Given the description of an element on the screen output the (x, y) to click on. 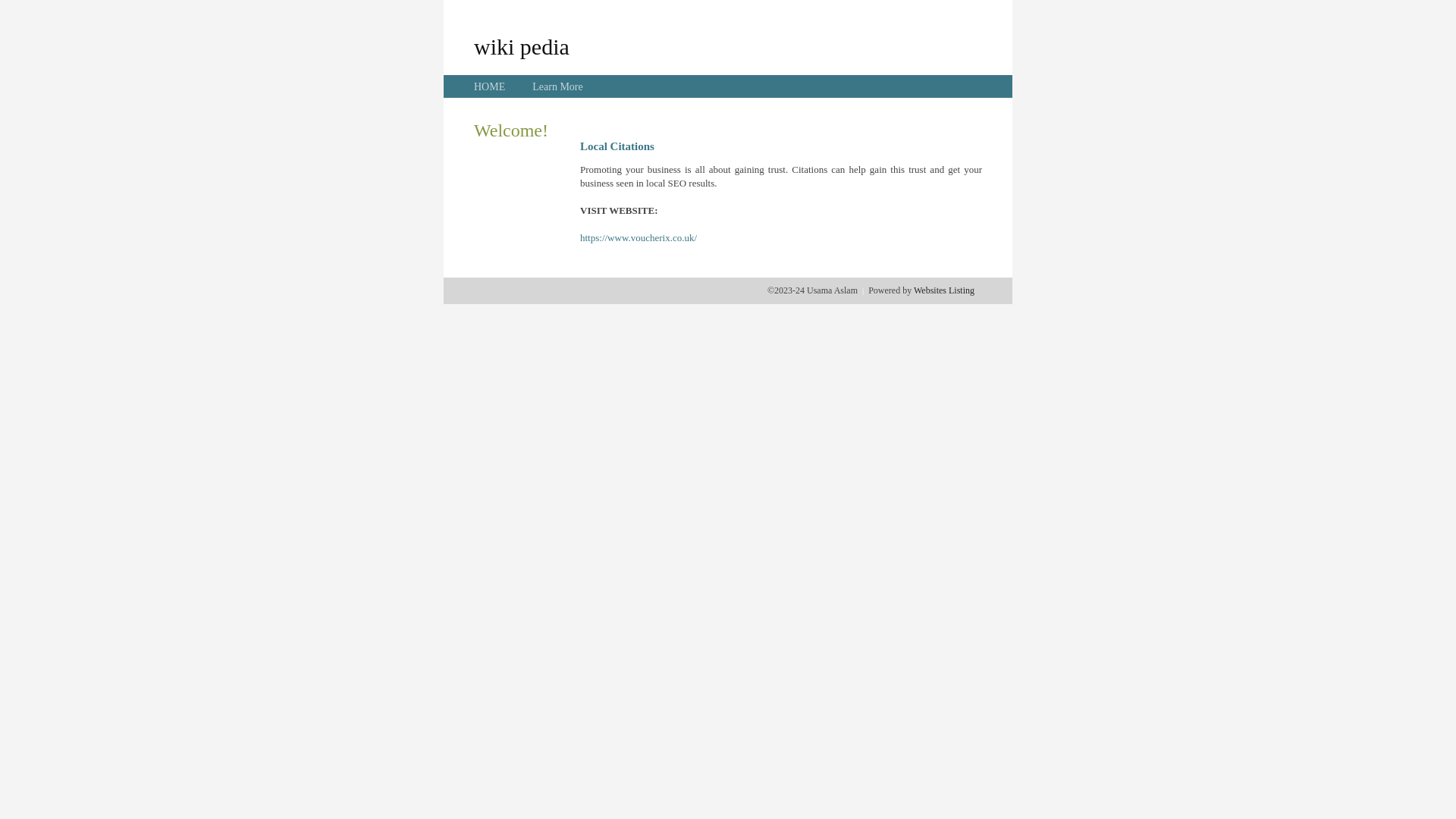
Websites Listing Element type: text (943, 290)
wiki pedia Element type: text (521, 46)
https://www.voucherix.co.uk/ Element type: text (638, 237)
HOME Element type: text (489, 86)
Learn More Element type: text (557, 86)
